Given the description of an element on the screen output the (x, y) to click on. 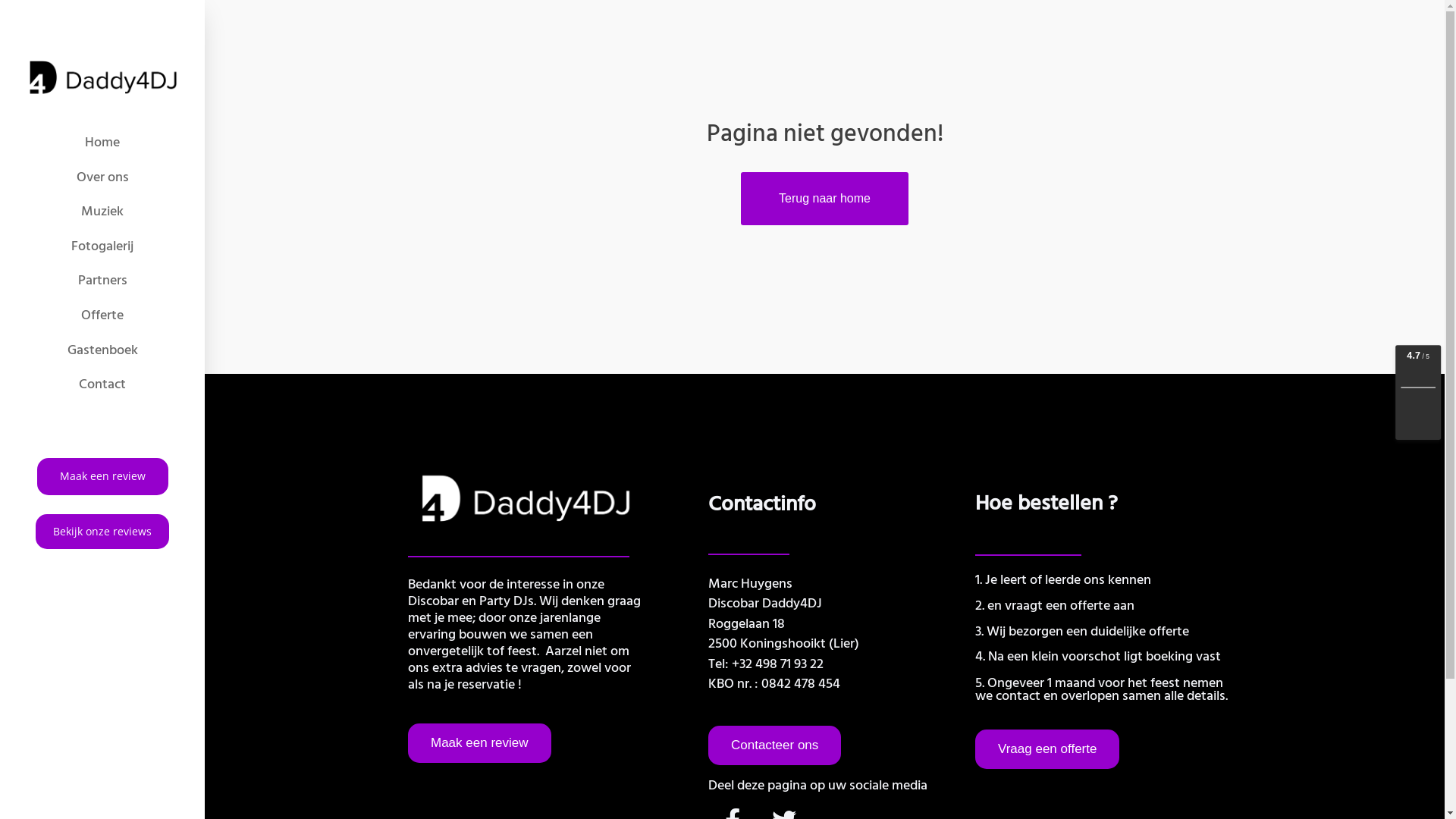
Maak een review Element type: text (479, 742)
Offerte Element type: text (102, 315)
Contacteer ons Element type: text (774, 745)
Muziek Element type: text (102, 211)
Terug naar home Element type: text (824, 198)
Fotogalerij Element type: text (102, 246)
Partners Element type: text (102, 280)
Bekijk onze reviews Element type: text (102, 531)
Home Element type: text (102, 142)
Vraag een offerte Element type: text (1047, 748)
Gastenboek Element type: text (102, 349)
Contact Element type: text (102, 384)
Maak een review Element type: text (101, 476)
Over ons Element type: text (102, 177)
